Given the description of an element on the screen output the (x, y) to click on. 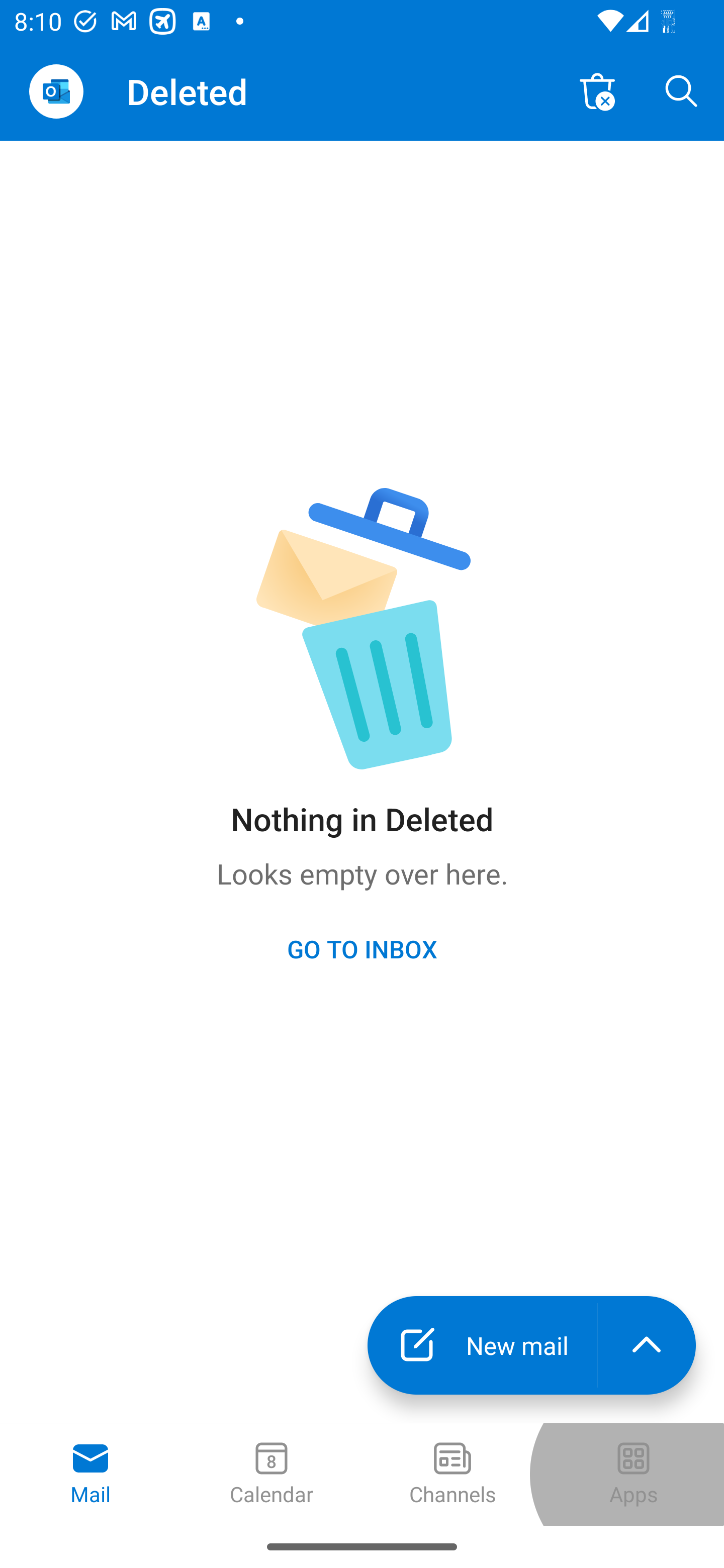
Empty Deleted (597, 90)
Search, ,  (681, 90)
Open Navigation Drawer (55, 91)
GO TO INBOX (362, 948)
New mail (481, 1344)
launch the extended action menu (646, 1344)
Calendar (271, 1474)
Channels (452, 1474)
Apps (633, 1474)
